Given the description of an element on the screen output the (x, y) to click on. 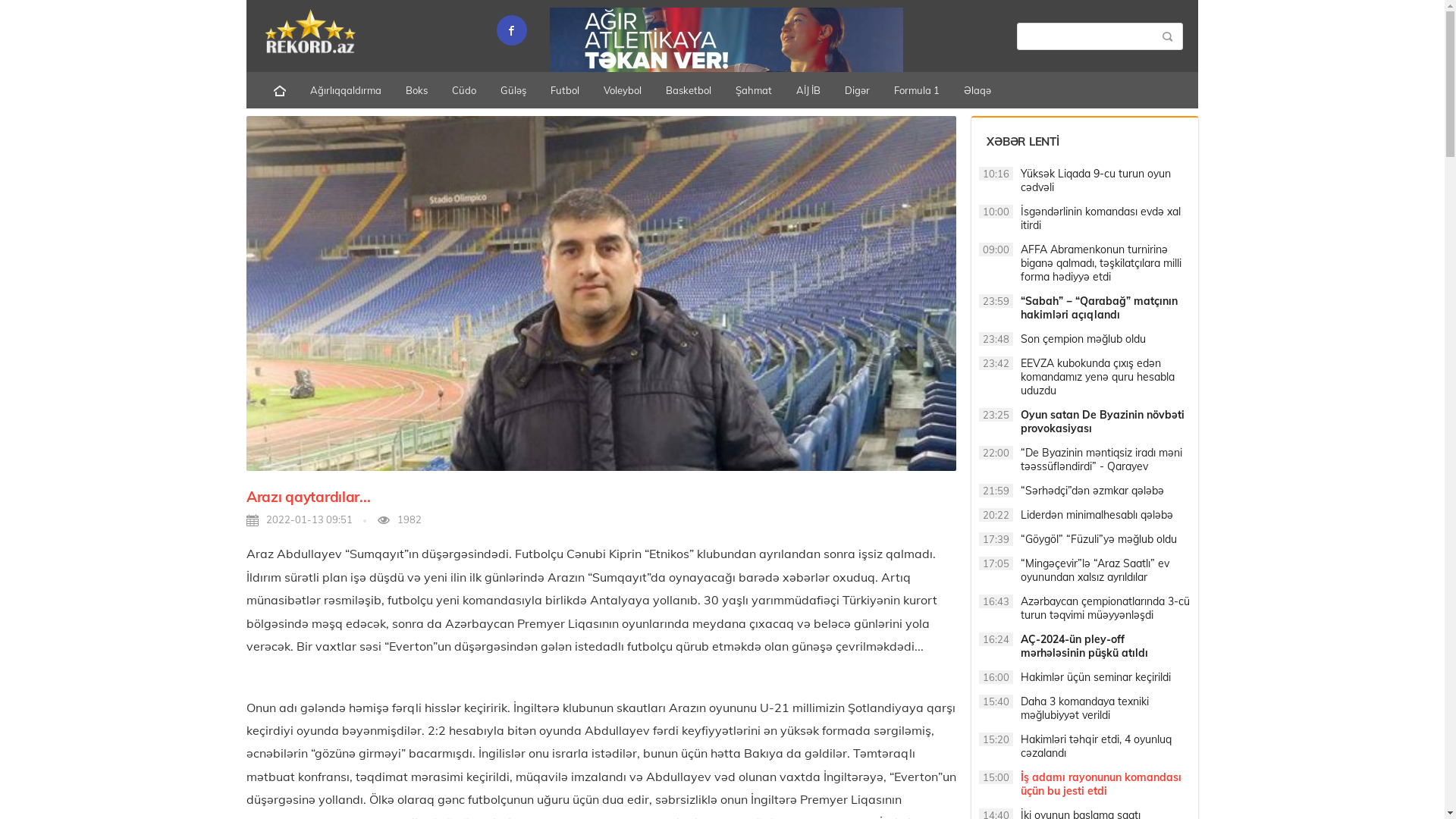
Boks Element type: text (416, 90)
Basketbol Element type: text (688, 90)
Futbol Element type: text (564, 90)
Voleybol Element type: text (622, 90)
Formula 1 Element type: text (916, 90)
